Given the description of an element on the screen output the (x, y) to click on. 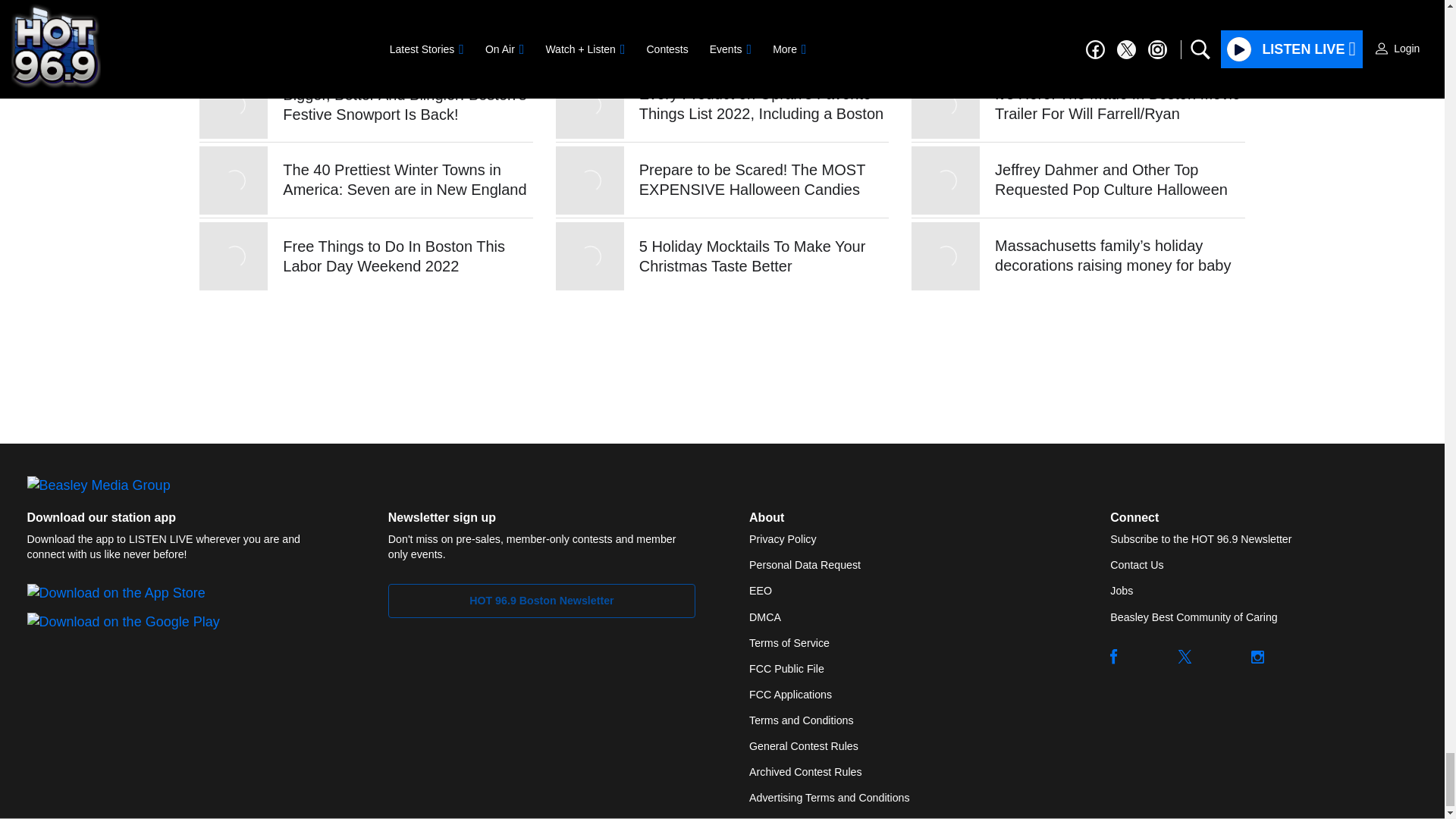
Instagram (1256, 656)
Twitter (1184, 656)
